Given the description of an element on the screen output the (x, y) to click on. 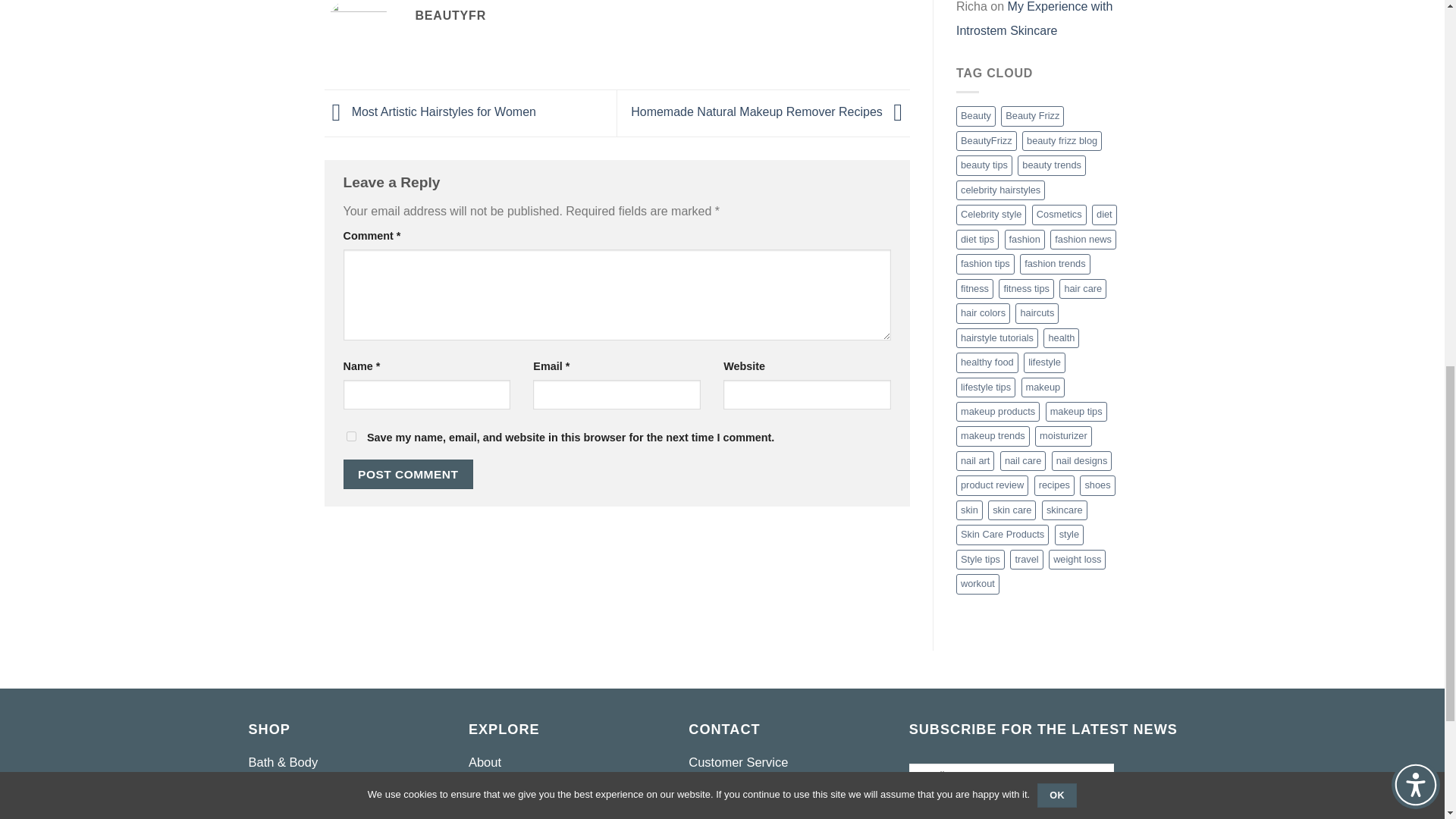
yes (350, 435)
Post Comment (407, 473)
